Given the description of an element on the screen output the (x, y) to click on. 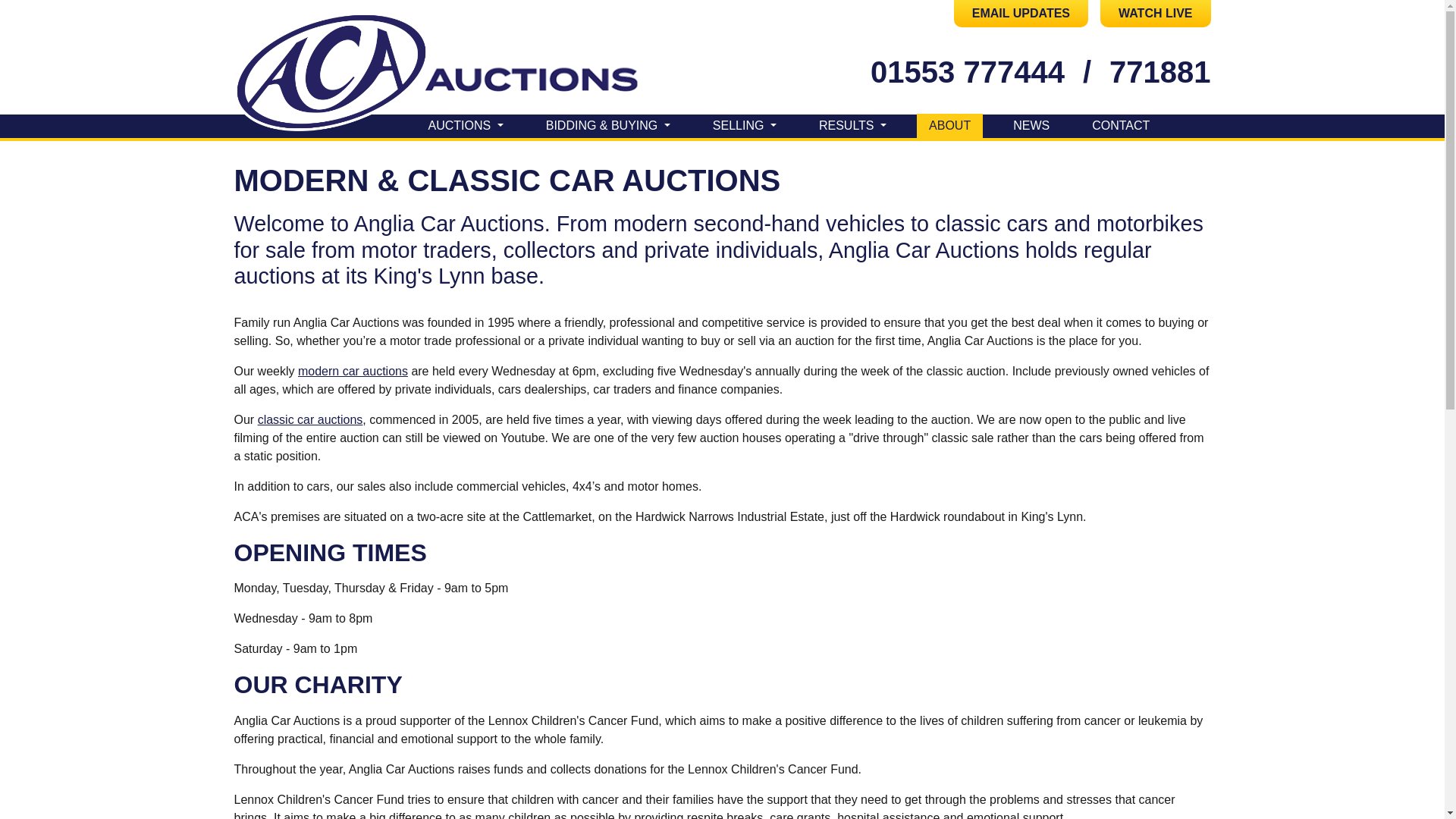
Selling (744, 125)
EMAIL UPDATES (1020, 13)
classic car auctions (309, 419)
Auctions (464, 125)
SELLING (744, 125)
01553 771881 (1159, 72)
01553 777444 (967, 72)
Watch our auctions live (1154, 13)
WATCH LIVE (1154, 13)
CONTACT (1120, 125)
